Given the description of an element on the screen output the (x, y) to click on. 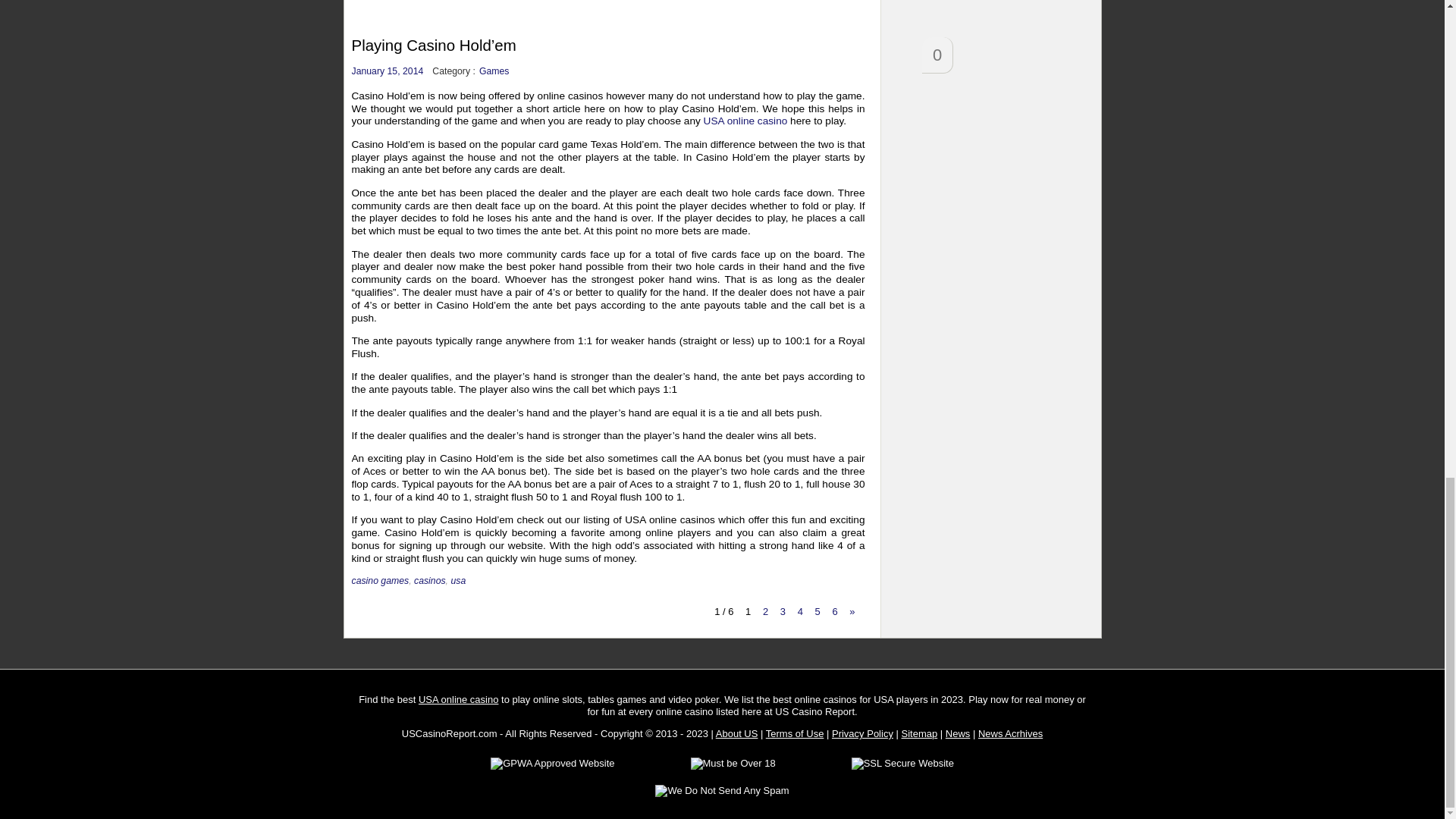
casino games (380, 580)
 4  (799, 611)
USA online casino (745, 120)
 2  (764, 611)
 3  (782, 611)
Games (494, 70)
Next (852, 611)
 5  (817, 611)
 6  (834, 611)
January 15, 2014 (387, 71)
